Given the description of an element on the screen output the (x, y) to click on. 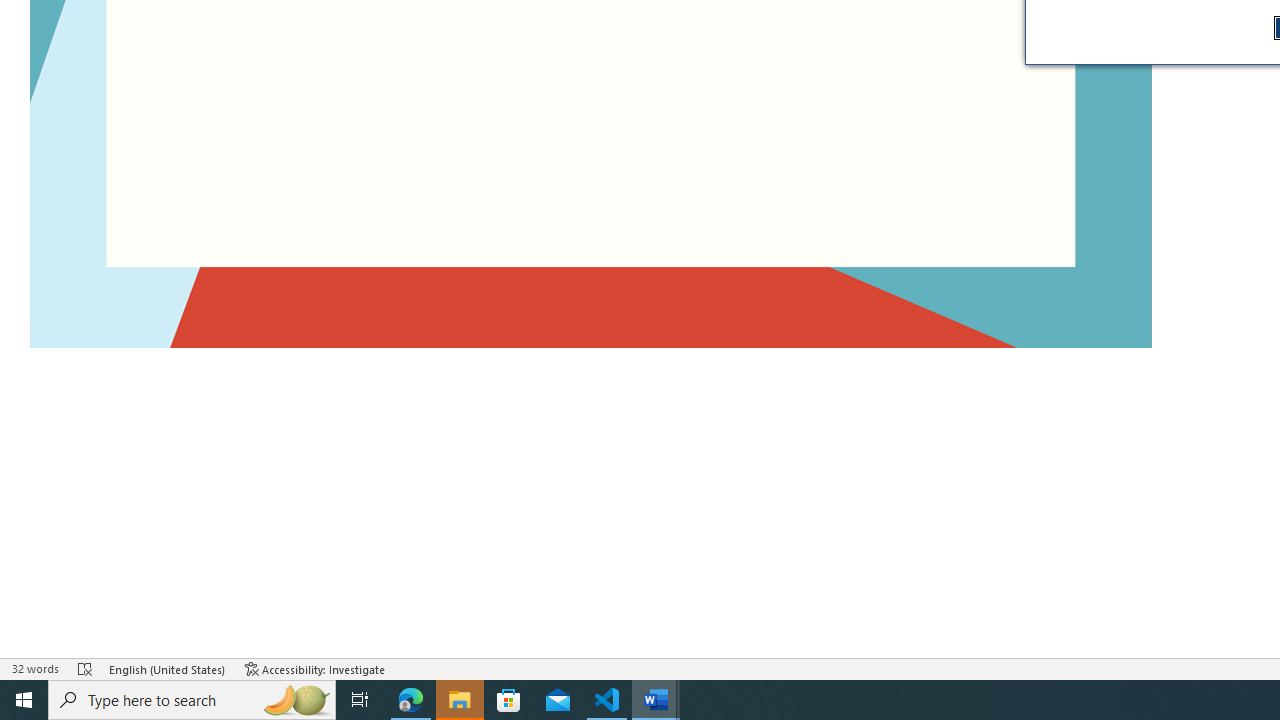
Word - 2 running windows (656, 699)
Accessibility Checker Accessibility: Investigate (315, 668)
Language English (United States) (168, 668)
Search highlights icon opens search home window (295, 699)
Visual Studio Code - 1 running window (607, 699)
Spelling and Grammar Check Errors (86, 668)
Microsoft Store (509, 699)
Type here to search (191, 699)
Task View (359, 699)
Start (24, 699)
Word Count 32 words (34, 668)
File Explorer - 1 running window (460, 699)
Microsoft Edge - 1 running window (411, 699)
